Given the description of an element on the screen output the (x, y) to click on. 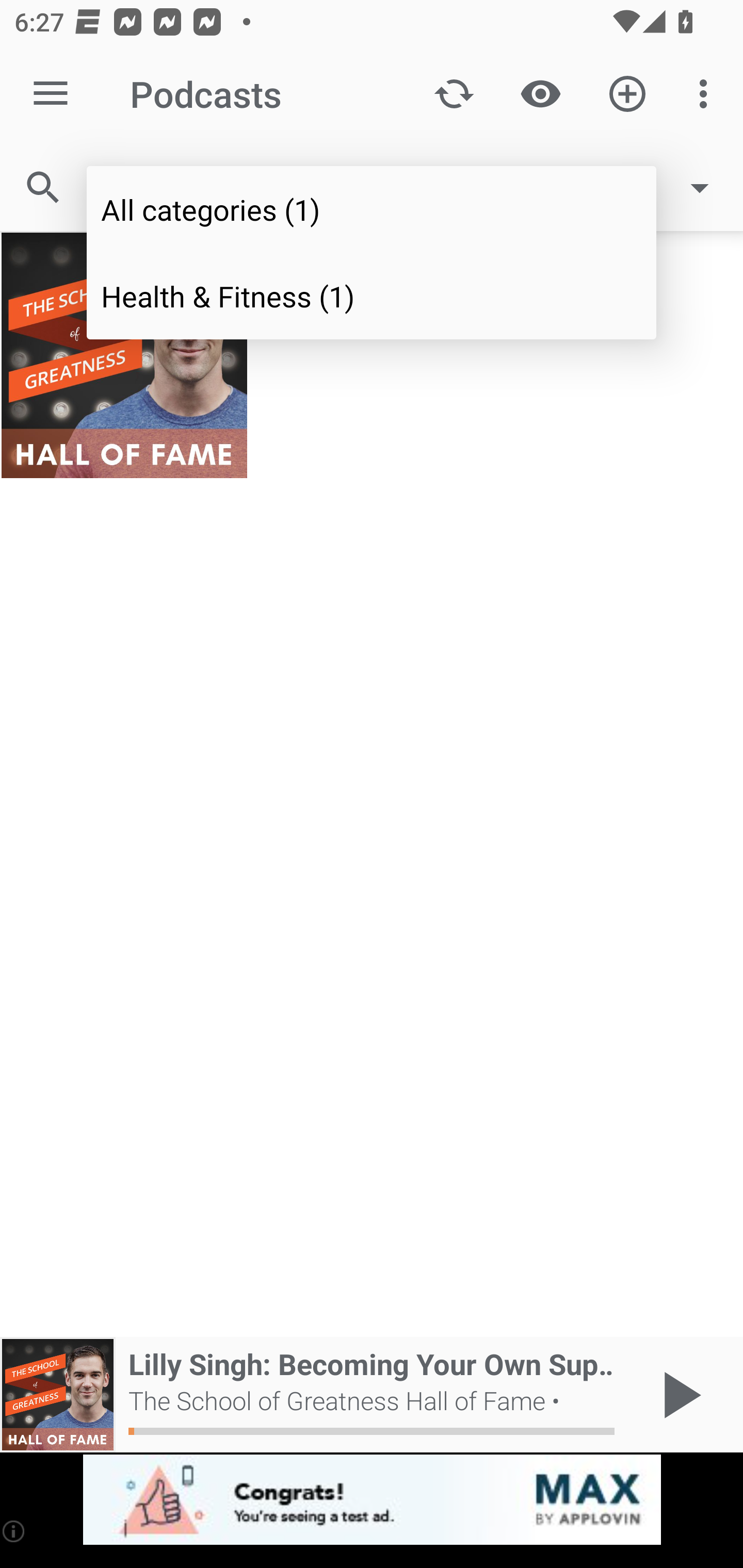
All categories (1) (371, 209)
Health & Fitness (1) (371, 295)
